Given the description of an element on the screen output the (x, y) to click on. 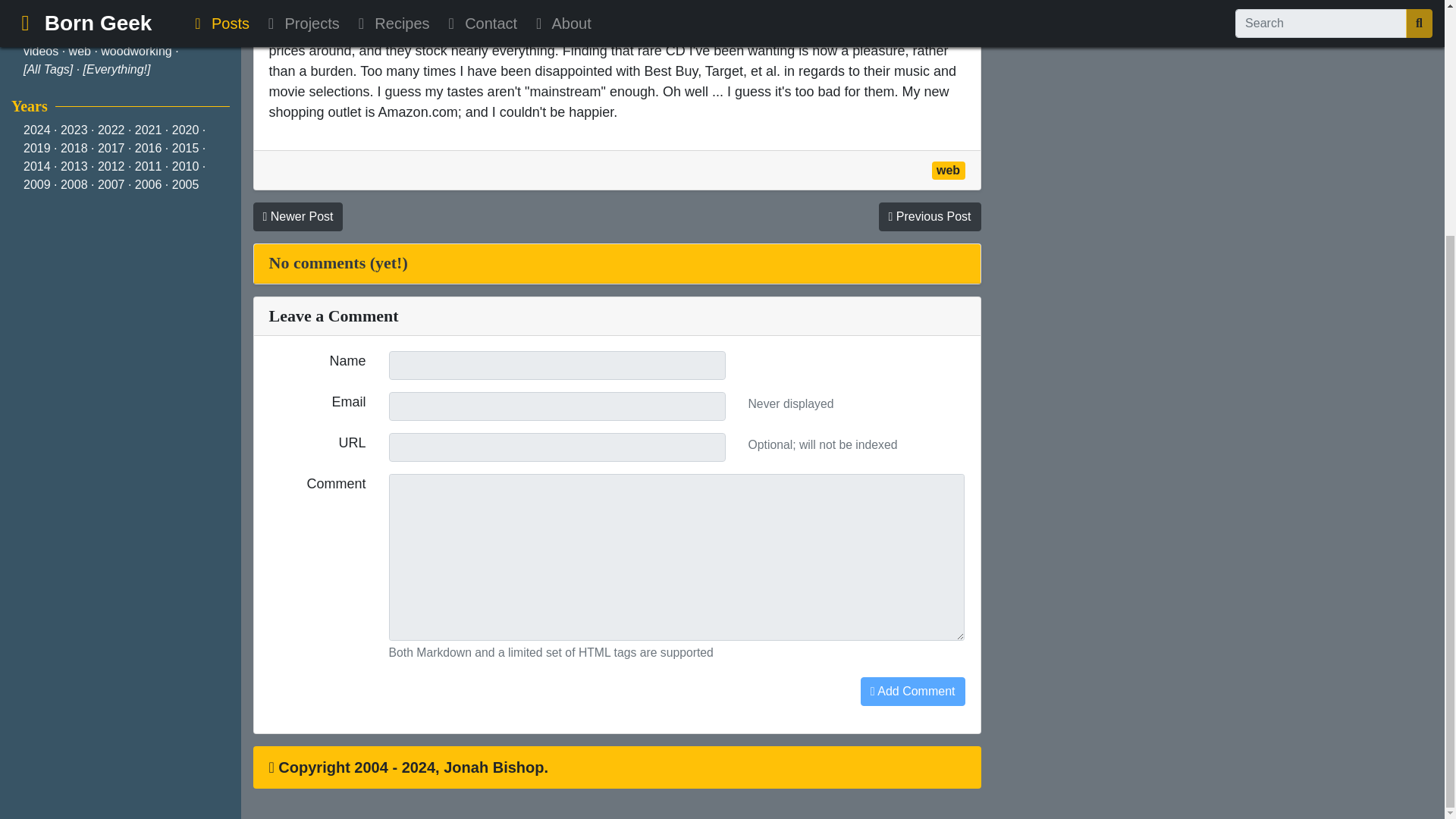
software (122, 32)
python (41, 14)
Newer Post (298, 216)
Previous Post (928, 216)
web (948, 170)
pc-gaming (51, 1)
personal (113, 1)
site-updates (55, 32)
reviews (139, 14)
recipes (89, 14)
Add Comment (912, 691)
useful-tool (183, 32)
videos (40, 51)
philosophy (176, 1)
